Given the description of an element on the screen output the (x, y) to click on. 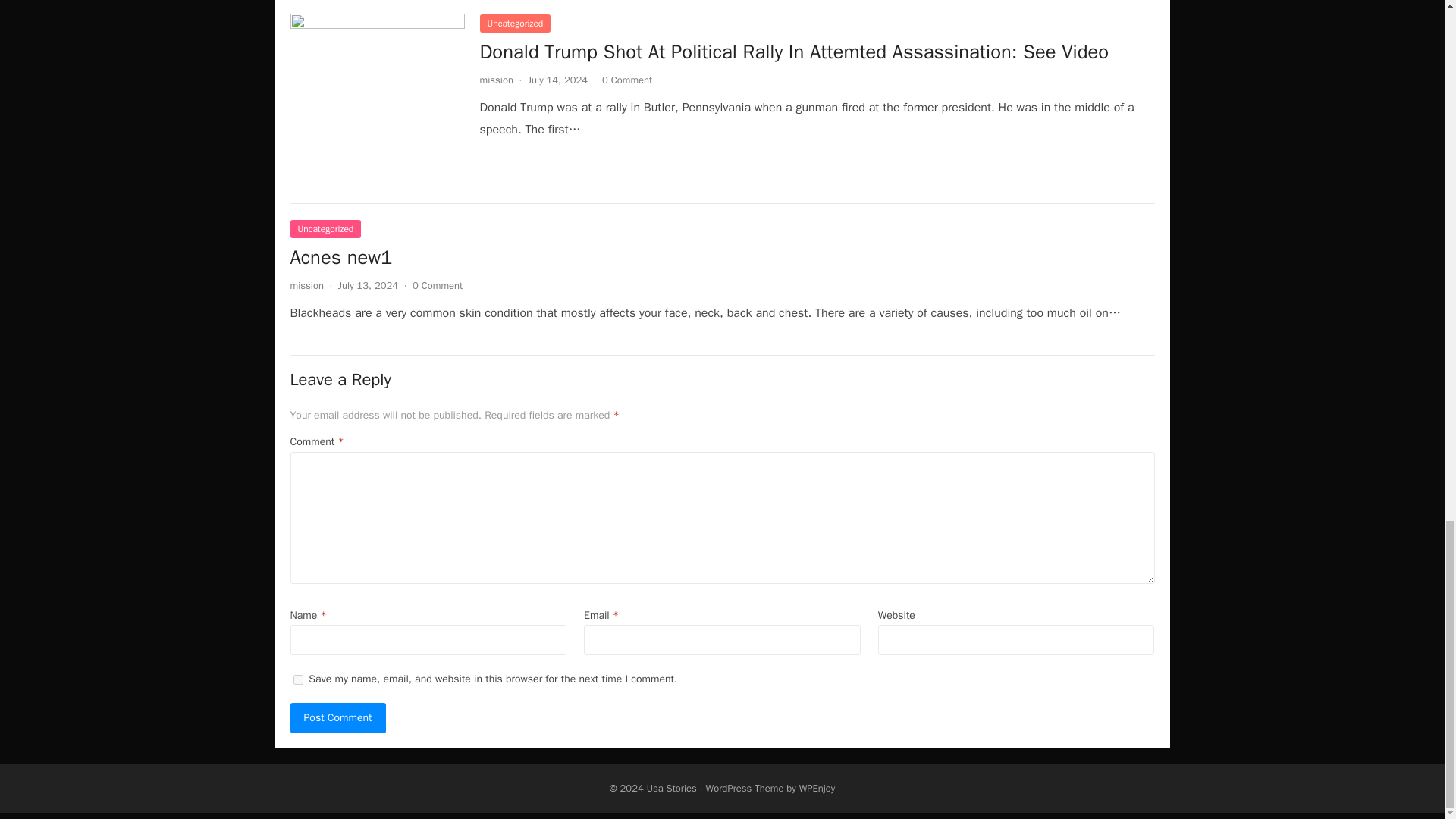
Post Comment (337, 717)
Acnes new1 (340, 257)
mission (495, 79)
Posts by mission (495, 79)
yes (297, 679)
Posts by mission (306, 285)
Uncategorized (325, 229)
Uncategorized (514, 23)
0 Comment (627, 79)
0 Comment (437, 285)
mission (306, 285)
